Given the description of an element on the screen output the (x, y) to click on. 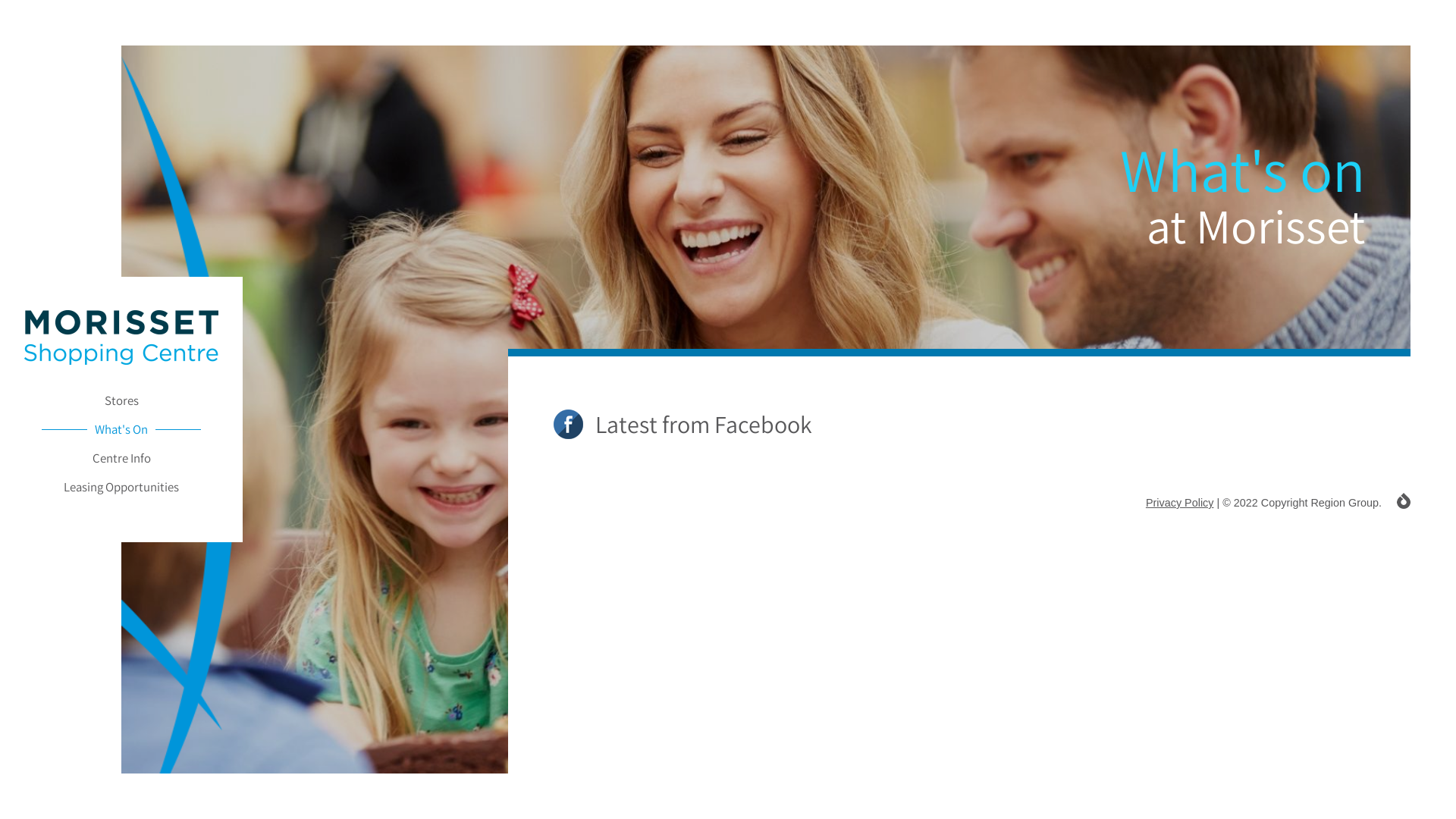
Stores Element type: text (121, 399)
Website designed and developed by Clear Pixel, Brisbane Element type: hover (1403, 500)
What's On Element type: text (121, 428)
Privacy Policy Element type: text (1179, 502)
Centre Info Element type: text (121, 457)
Leasing Opportunities Element type: text (121, 486)
Latest from Facebook Element type: text (981, 426)
